Given the description of an element on the screen output the (x, y) to click on. 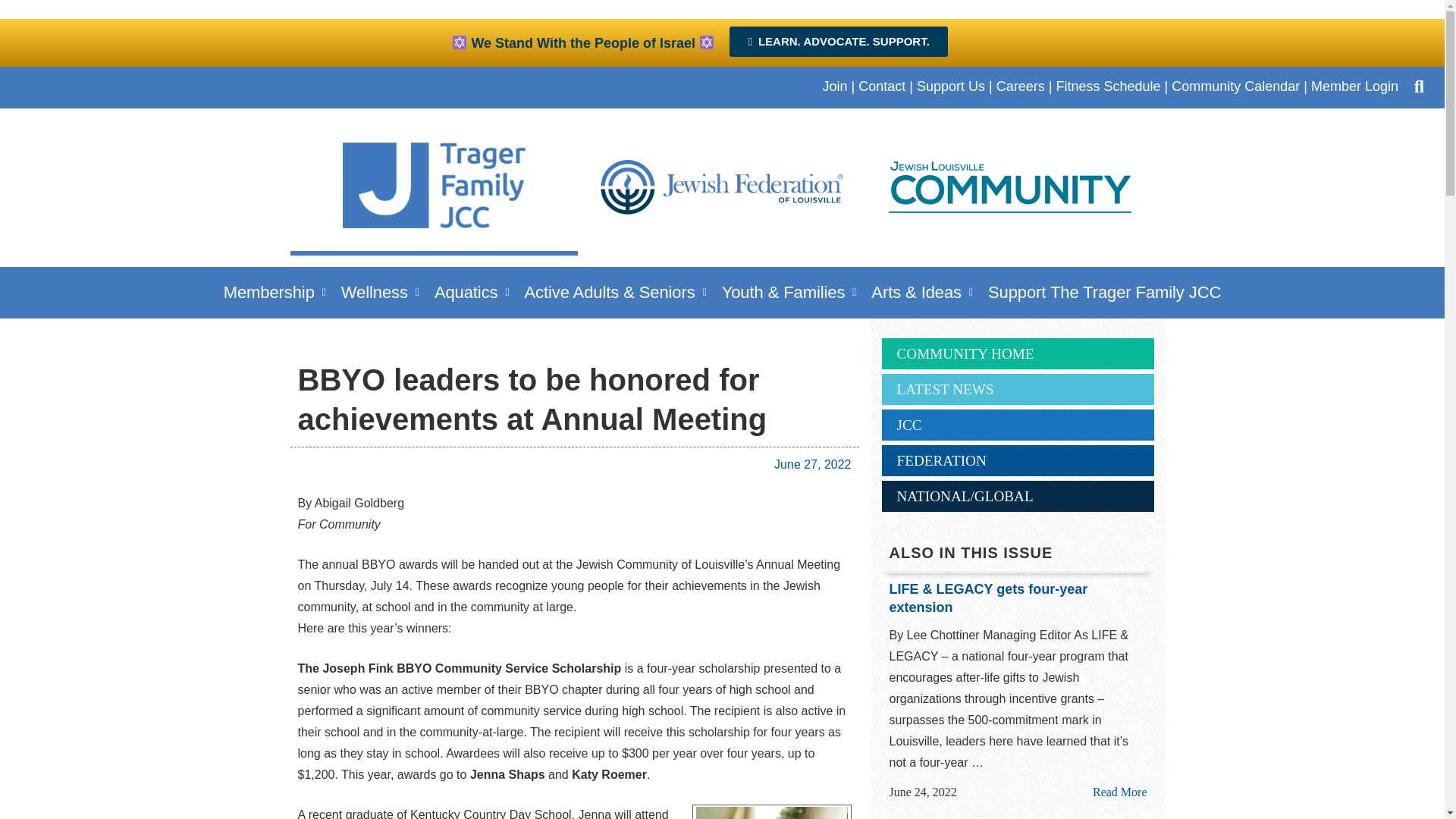
Member Login (1354, 86)
Aquatics (471, 292)
Careers (1020, 86)
Contact (882, 86)
Community Calendar (1236, 86)
LEARN. ADVOCATE. SUPPORT. (838, 41)
Fitness Schedule (1107, 86)
Support Us (951, 86)
Membership (274, 292)
Join (834, 86)
9:53 am (922, 791)
10:45 am (812, 464)
Wellness (379, 292)
